Given the description of an element on the screen output the (x, y) to click on. 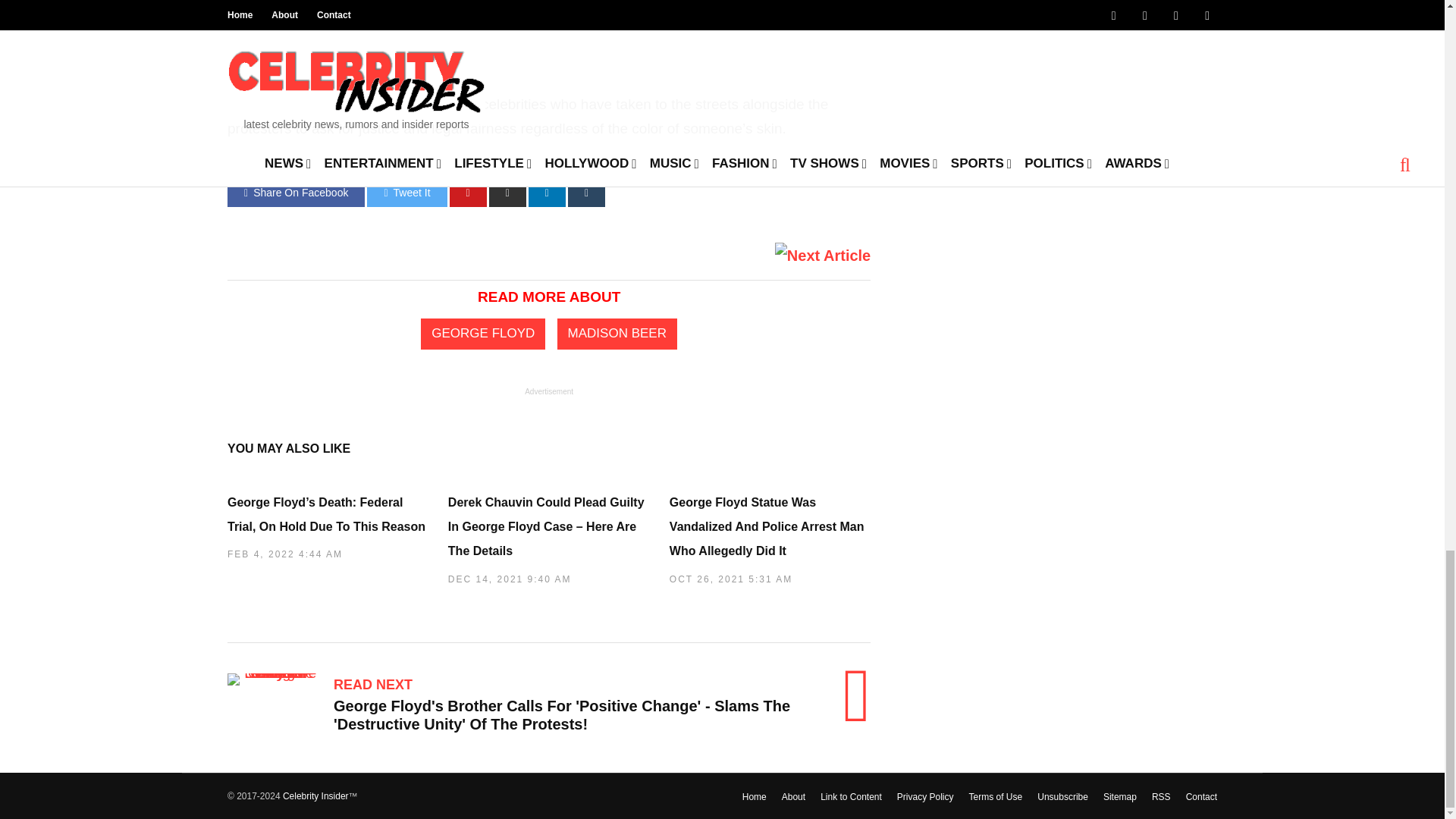
Share On Reddit (507, 193)
Share On Pinterest (467, 193)
Share On Linkedin (547, 193)
Share On Tumblr (586, 193)
Share On Facebook (296, 193)
Share On Twitter (406, 193)
